Given the description of an element on the screen output the (x, y) to click on. 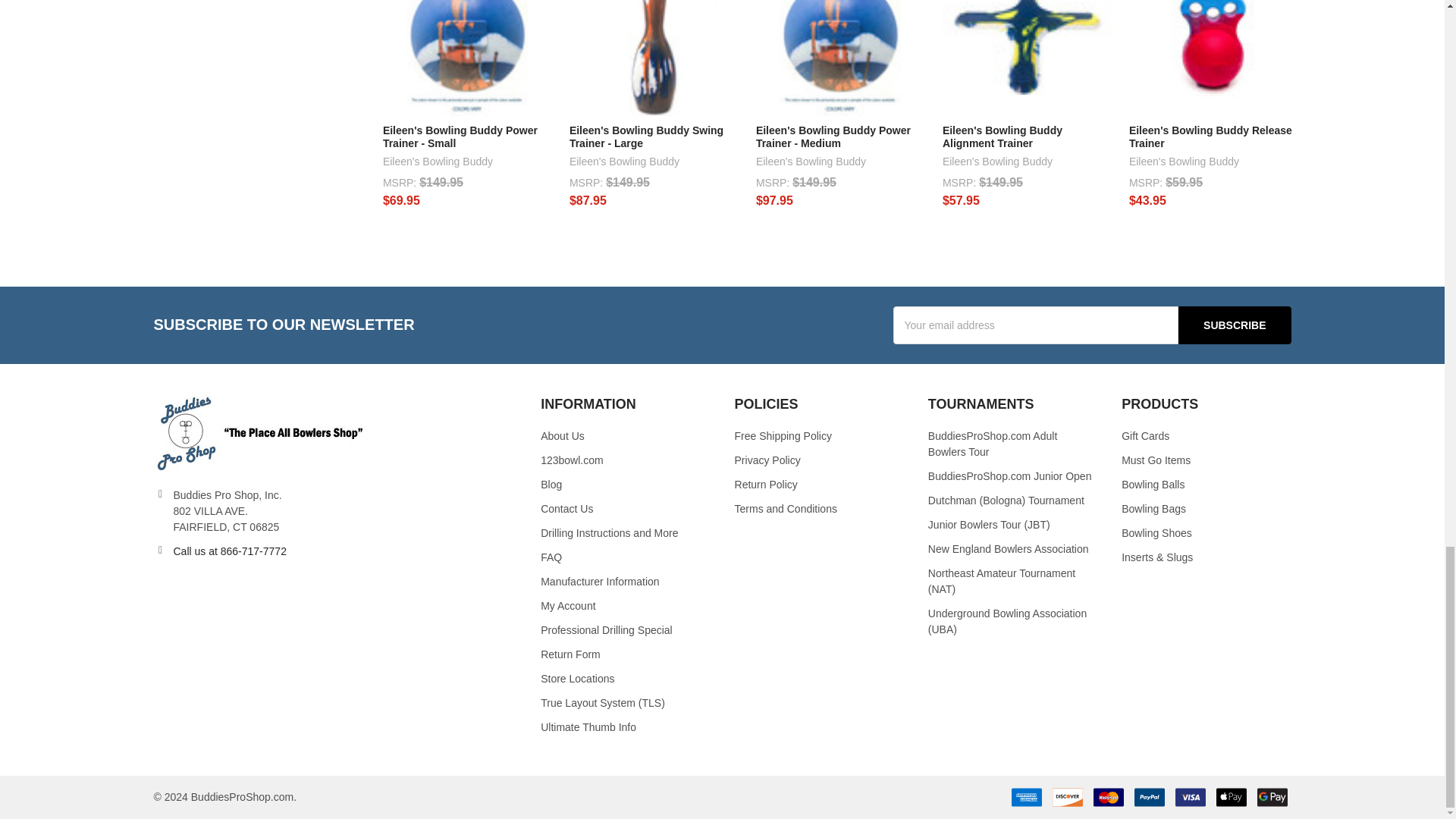
Subscribe (1233, 324)
